Given the description of an element on the screen output the (x, y) to click on. 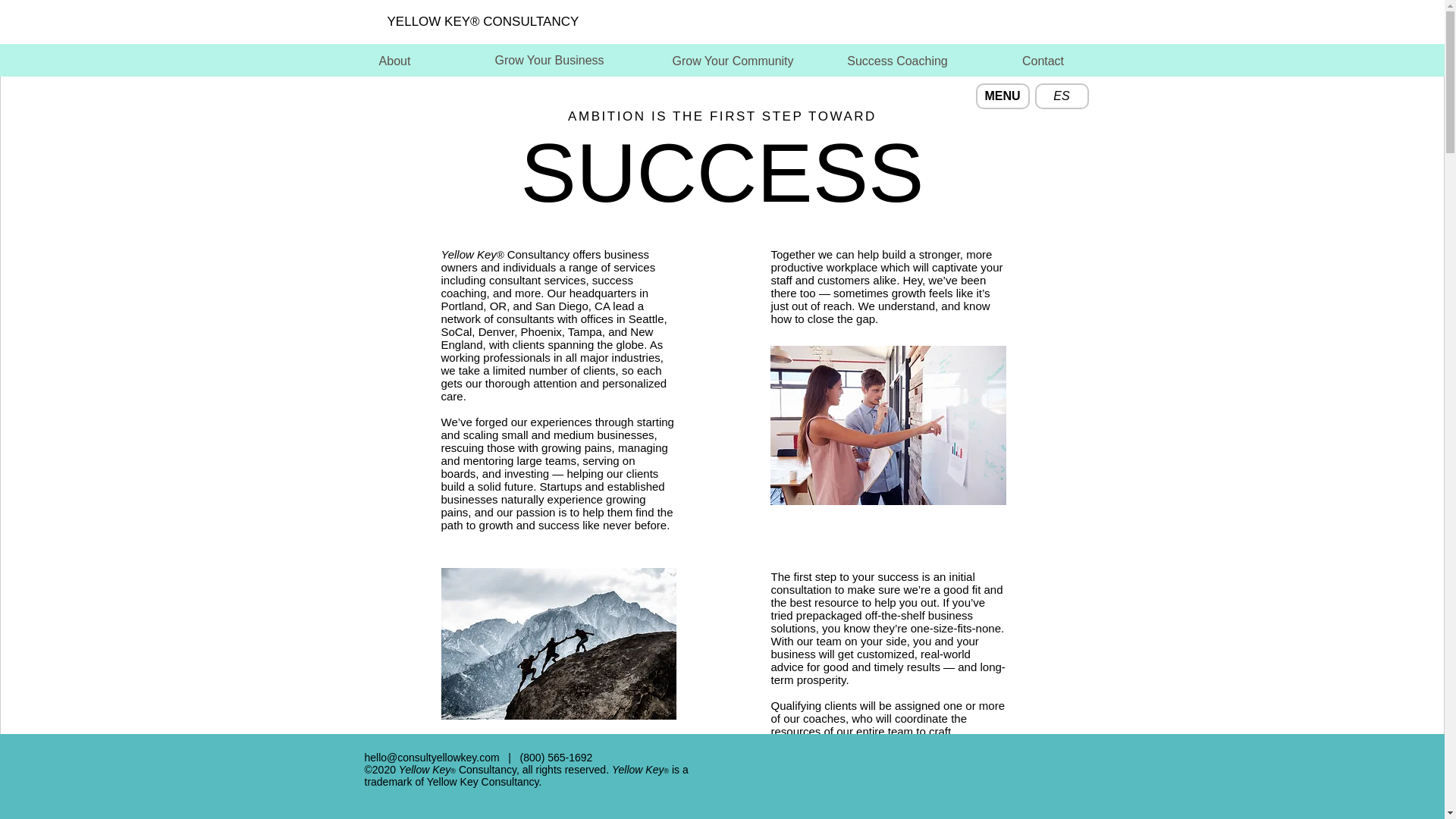
Contact (1043, 60)
Grow Your Business (548, 60)
About (394, 60)
Success Coaching (896, 60)
MENU (1002, 95)
ES (1060, 95)
Grow Your Community (732, 60)
